Given the description of an element on the screen output the (x, y) to click on. 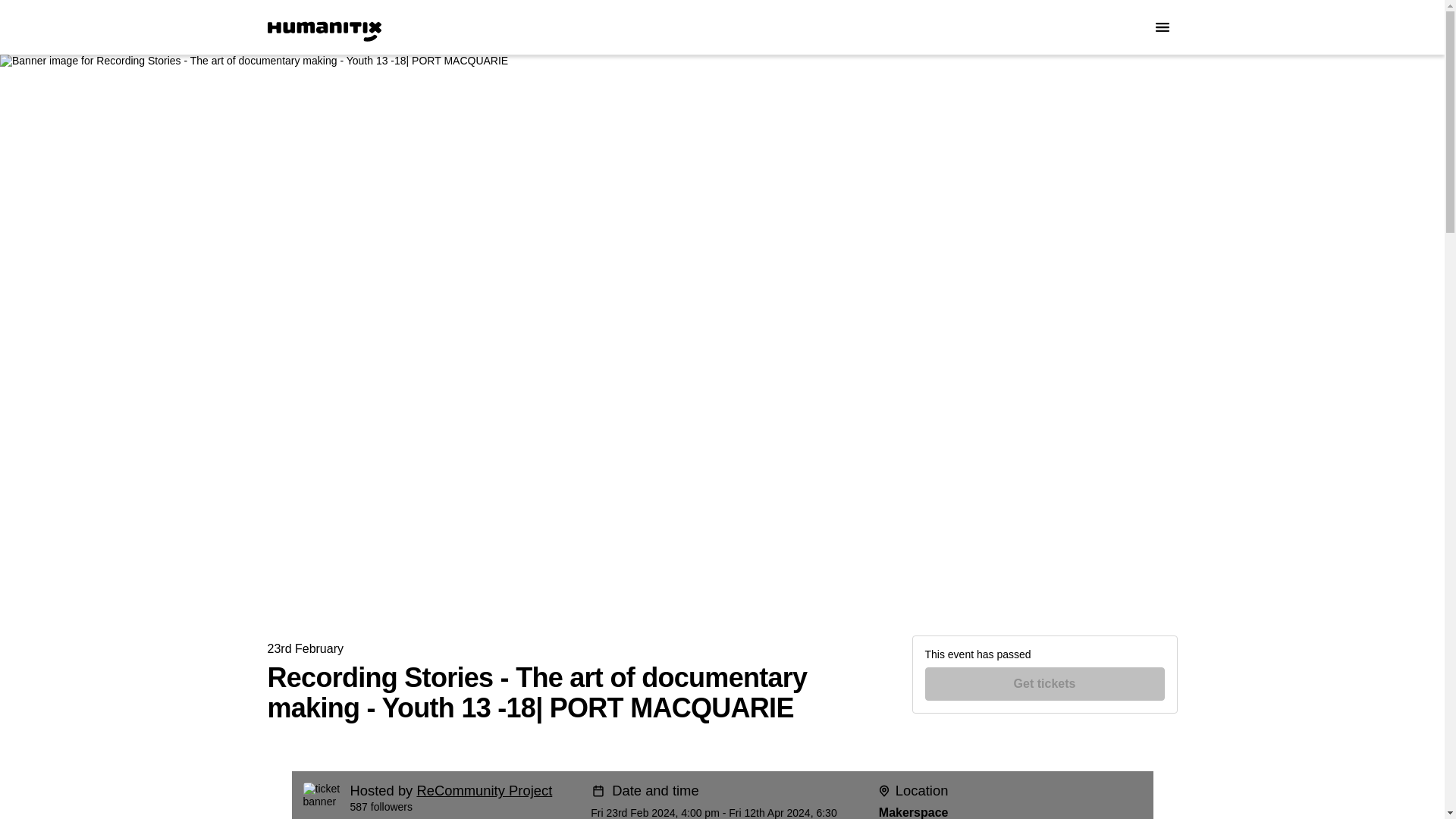
Skip to Content (18, 18)
Get tickets (1044, 684)
ReCommunity Project (483, 790)
